Given the description of an element on the screen output the (x, y) to click on. 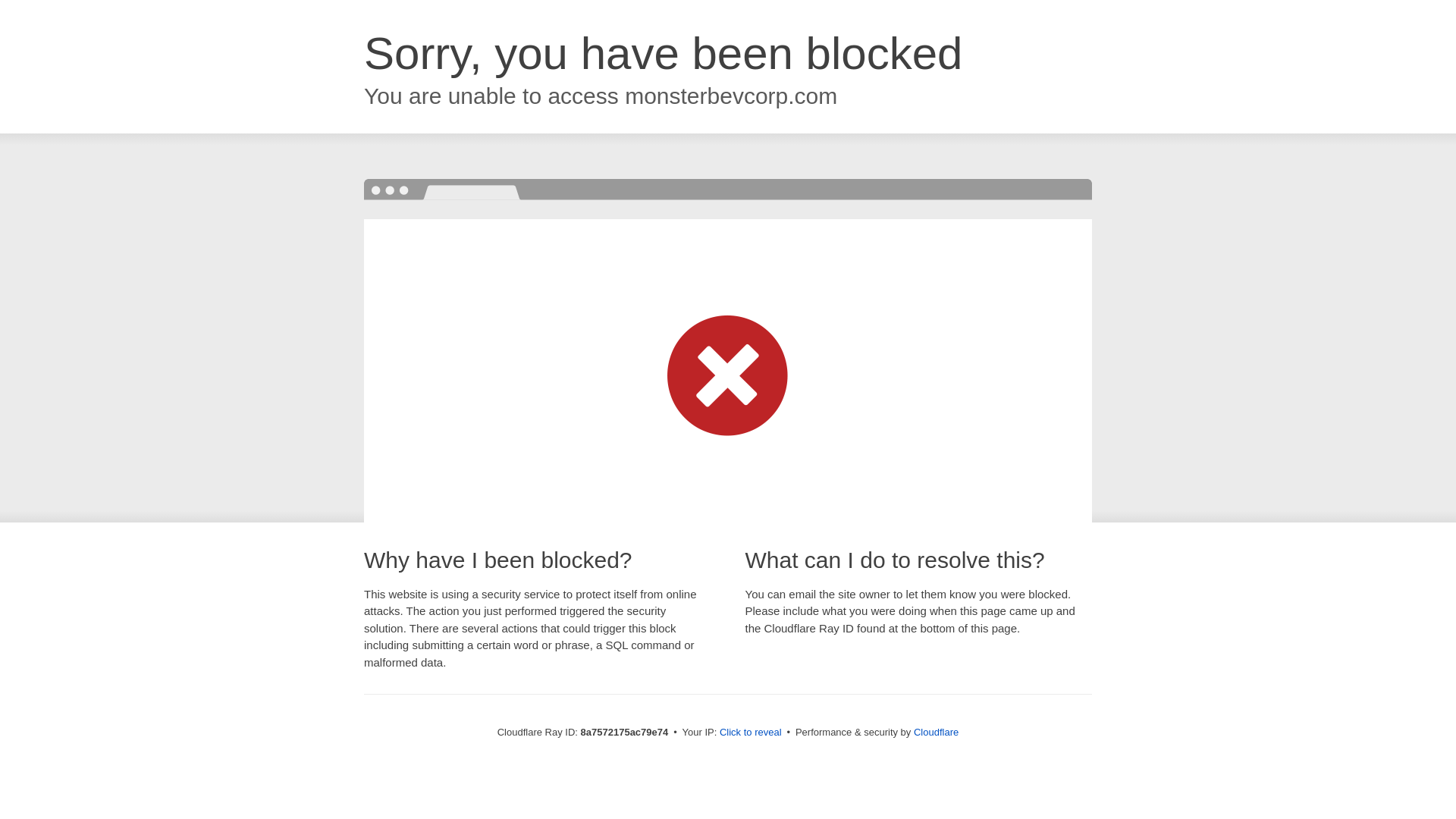
Click to reveal (750, 732)
Cloudflare (936, 731)
